Given the description of an element on the screen output the (x, y) to click on. 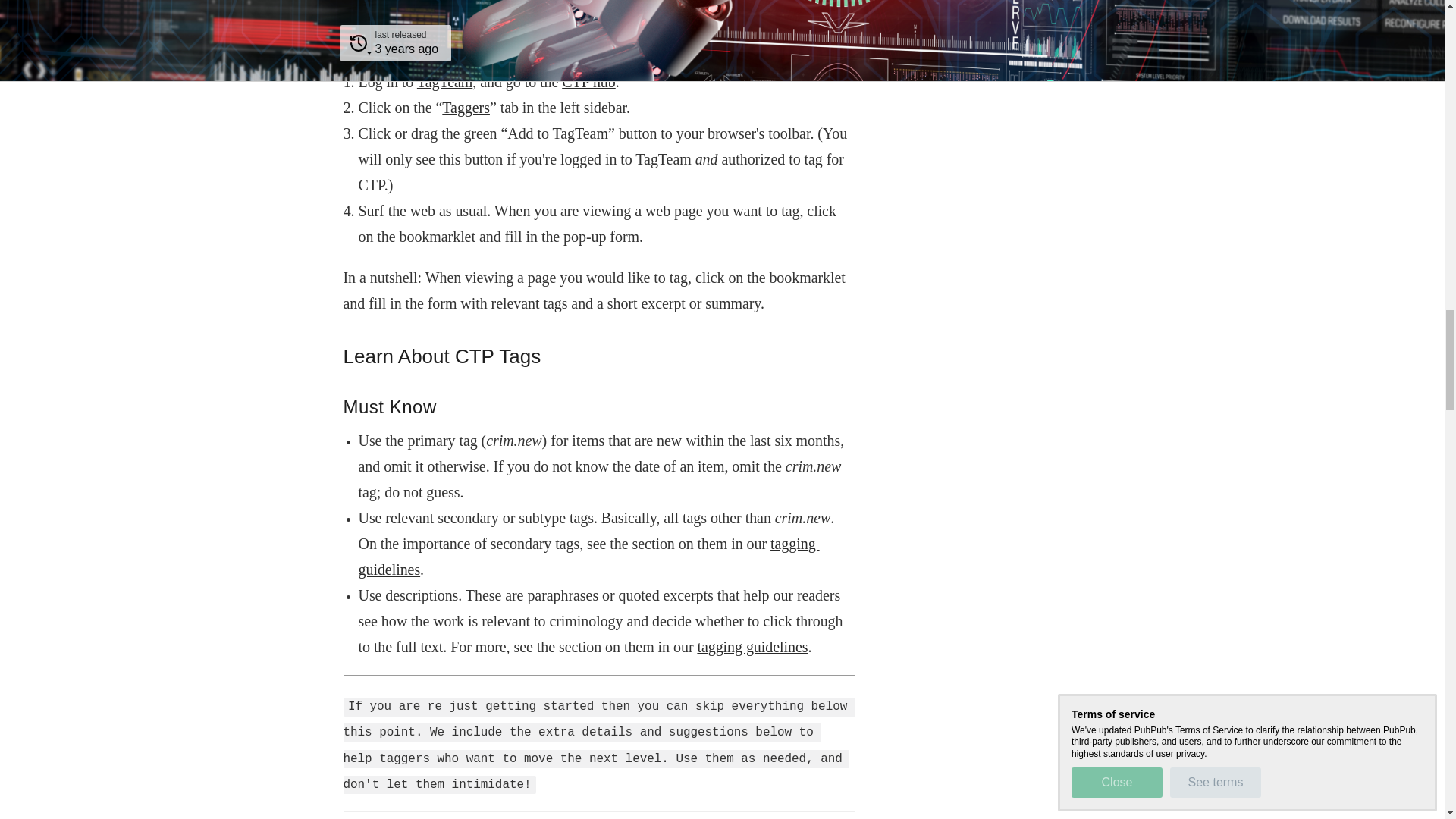
OATP conventions (752, 646)
CTP hub (588, 81)
tagging guidelines (588, 556)
tagging guidelines (752, 646)
TagTeam (443, 81)
OATP conventions (588, 556)
Taggers (465, 107)
